Given the description of an element on the screen output the (x, y) to click on. 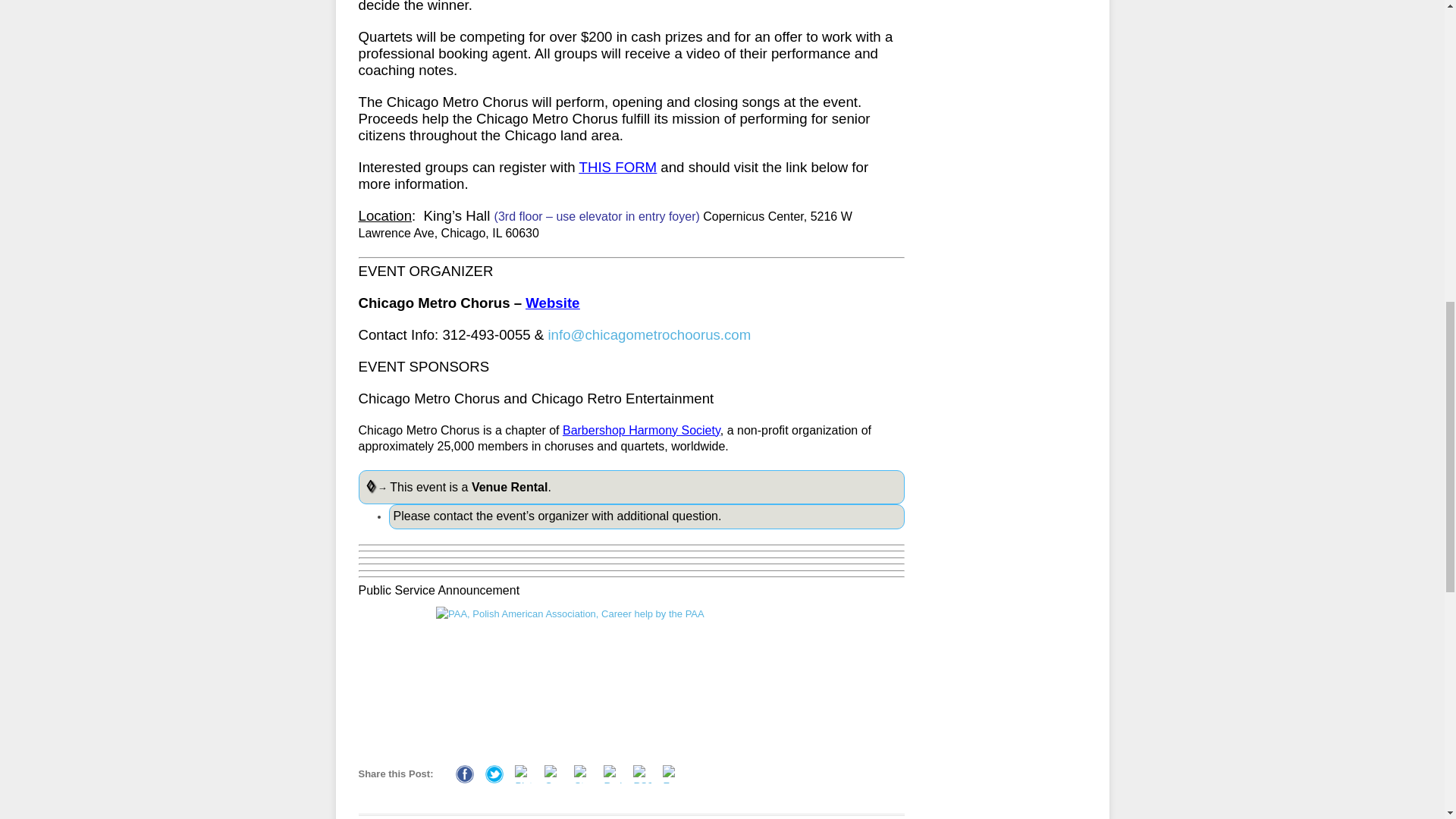
Pin it on Pinterest (523, 773)
Tweet on Twitter (493, 773)
Free Career help from the PAA (631, 674)
Share on StumbleUpon (582, 773)
Share on Facebook (464, 773)
Share on Google Plus (553, 773)
Share on Reddit (612, 773)
